Given the description of an element on the screen output the (x, y) to click on. 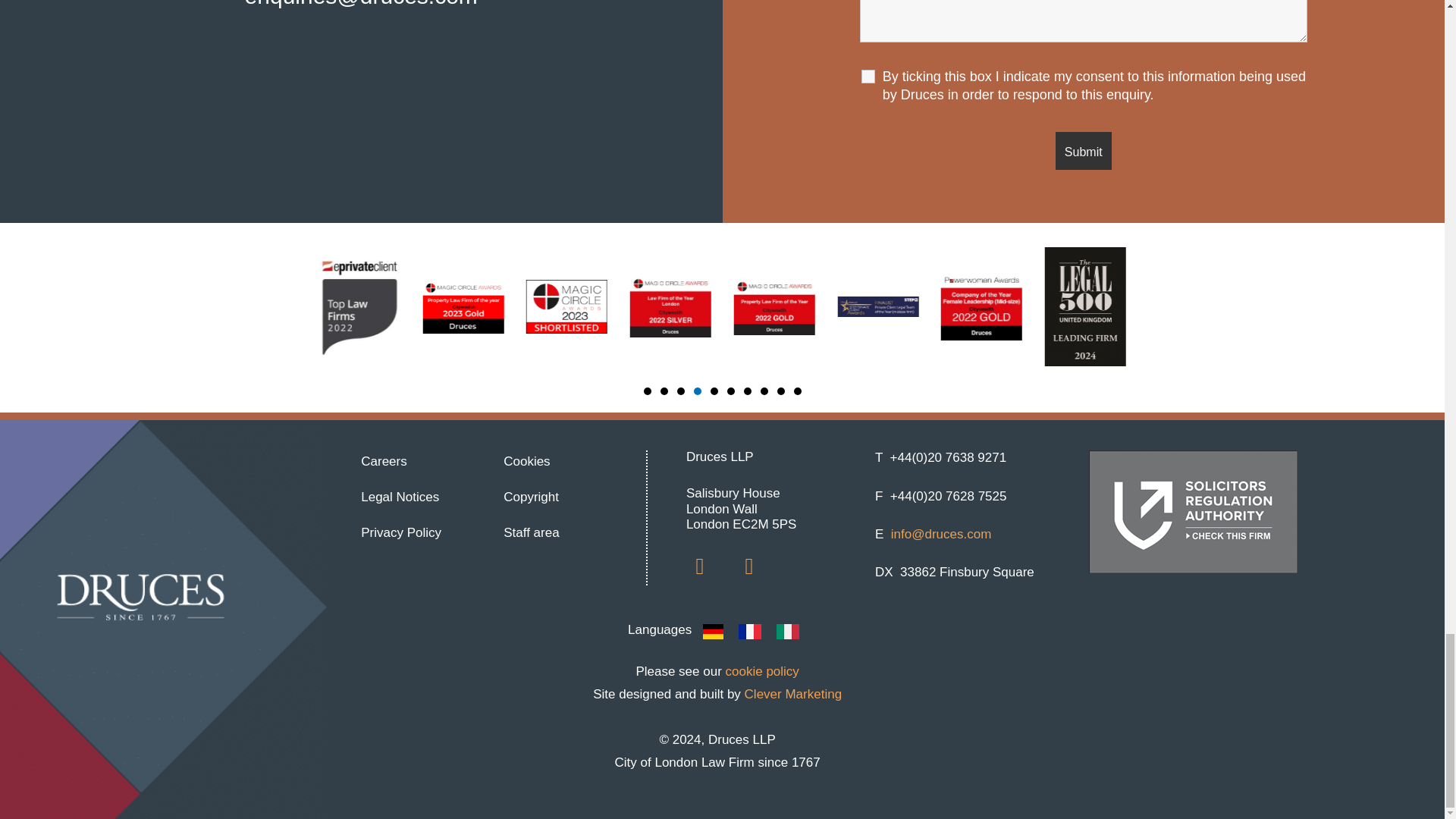
Submit (1083, 150)
Digital Marketing Agency (793, 694)
